Given the description of an element on the screen output the (x, y) to click on. 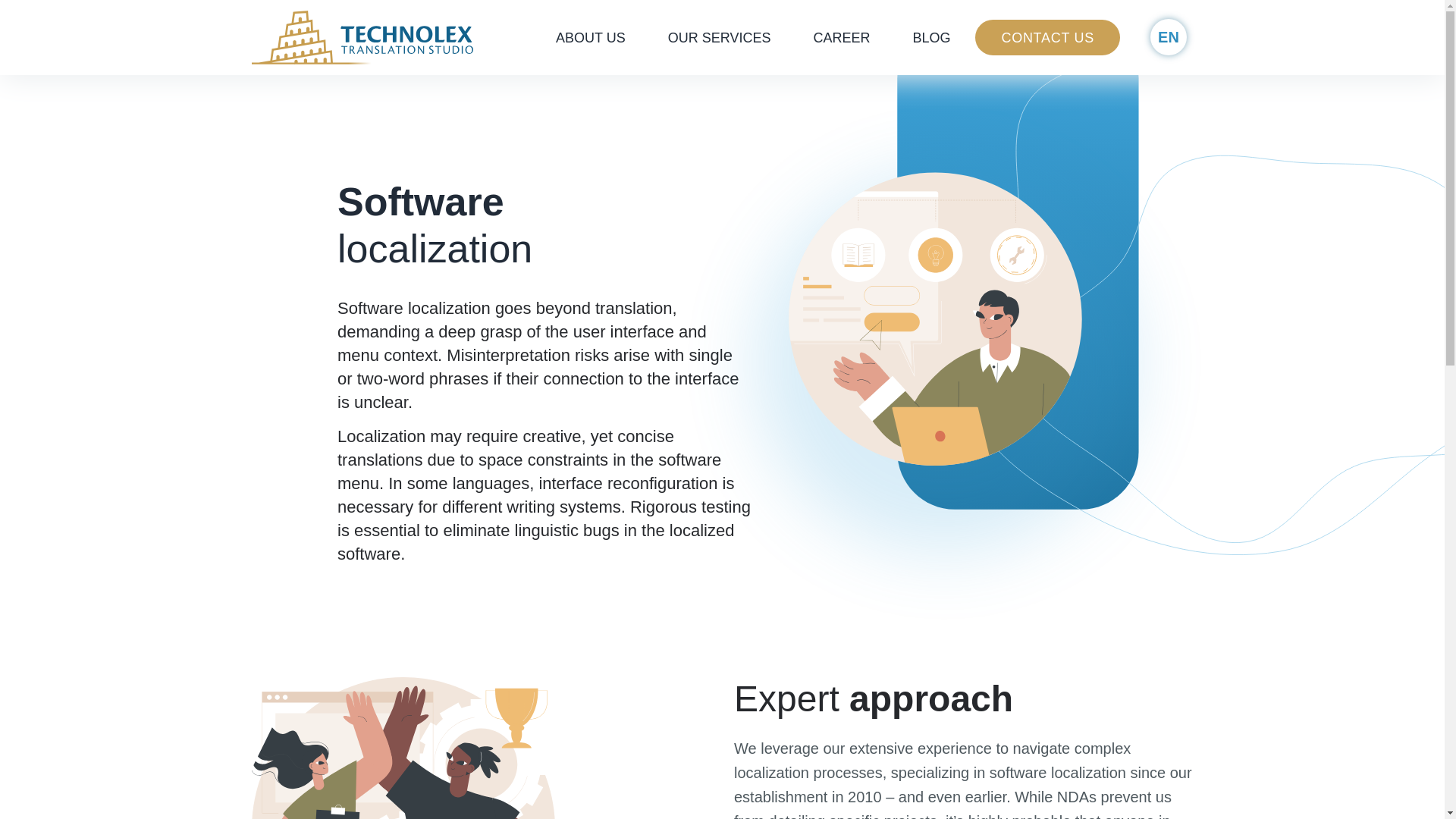
Main Logo (362, 36)
BLOG (931, 37)
EN (1168, 36)
ABOUT US (590, 37)
OUR SERVICES (719, 37)
CONTACT US (1047, 37)
CAREER (841, 37)
